Given the description of an element on the screen output the (x, y) to click on. 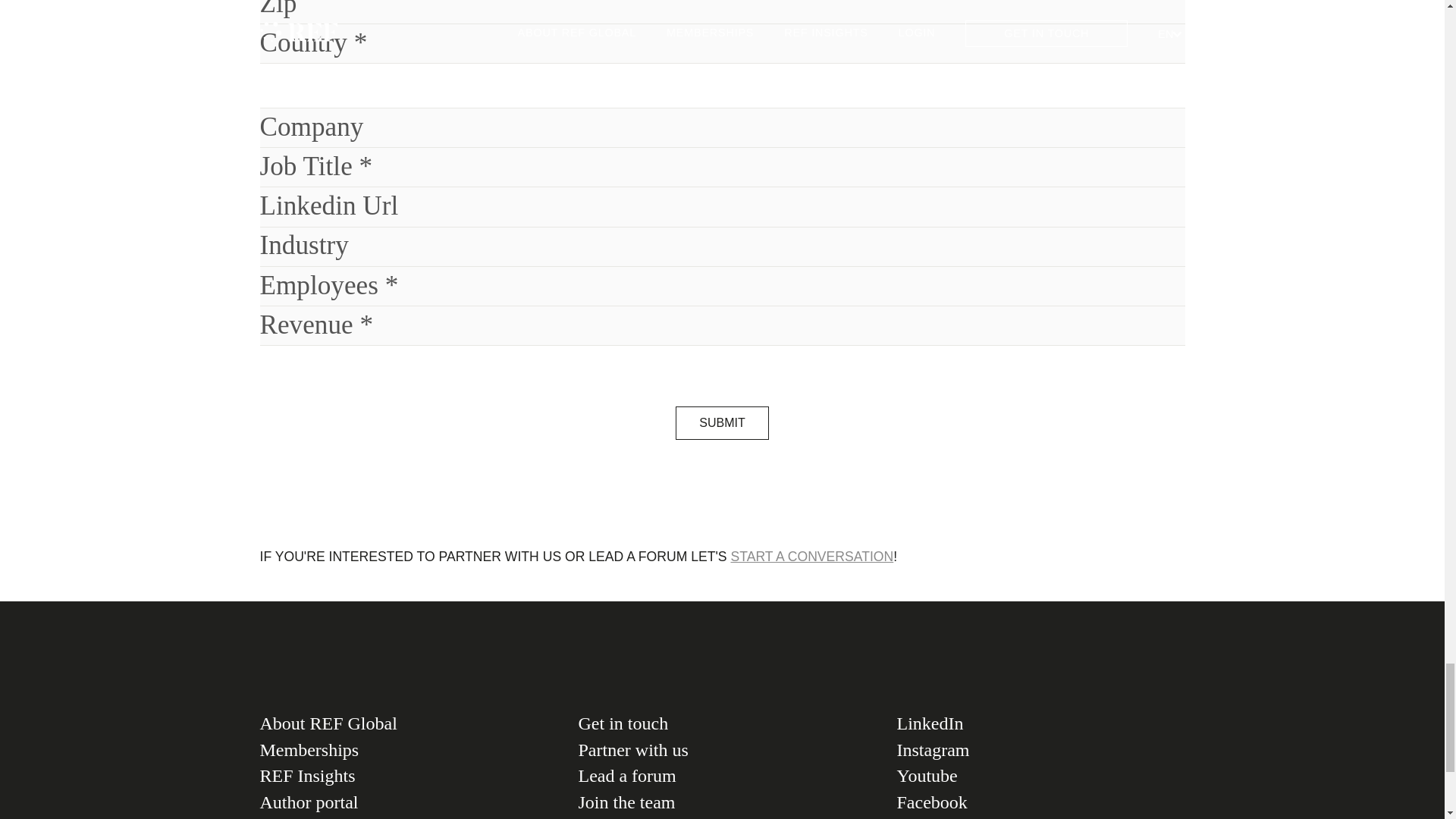
Submit (721, 422)
Author portal (403, 802)
Submit (721, 422)
START A CONVERSATION (811, 556)
About REF Global (403, 723)
Memberships (403, 750)
REF Insights (403, 775)
